Given the description of an element on the screen output the (x, y) to click on. 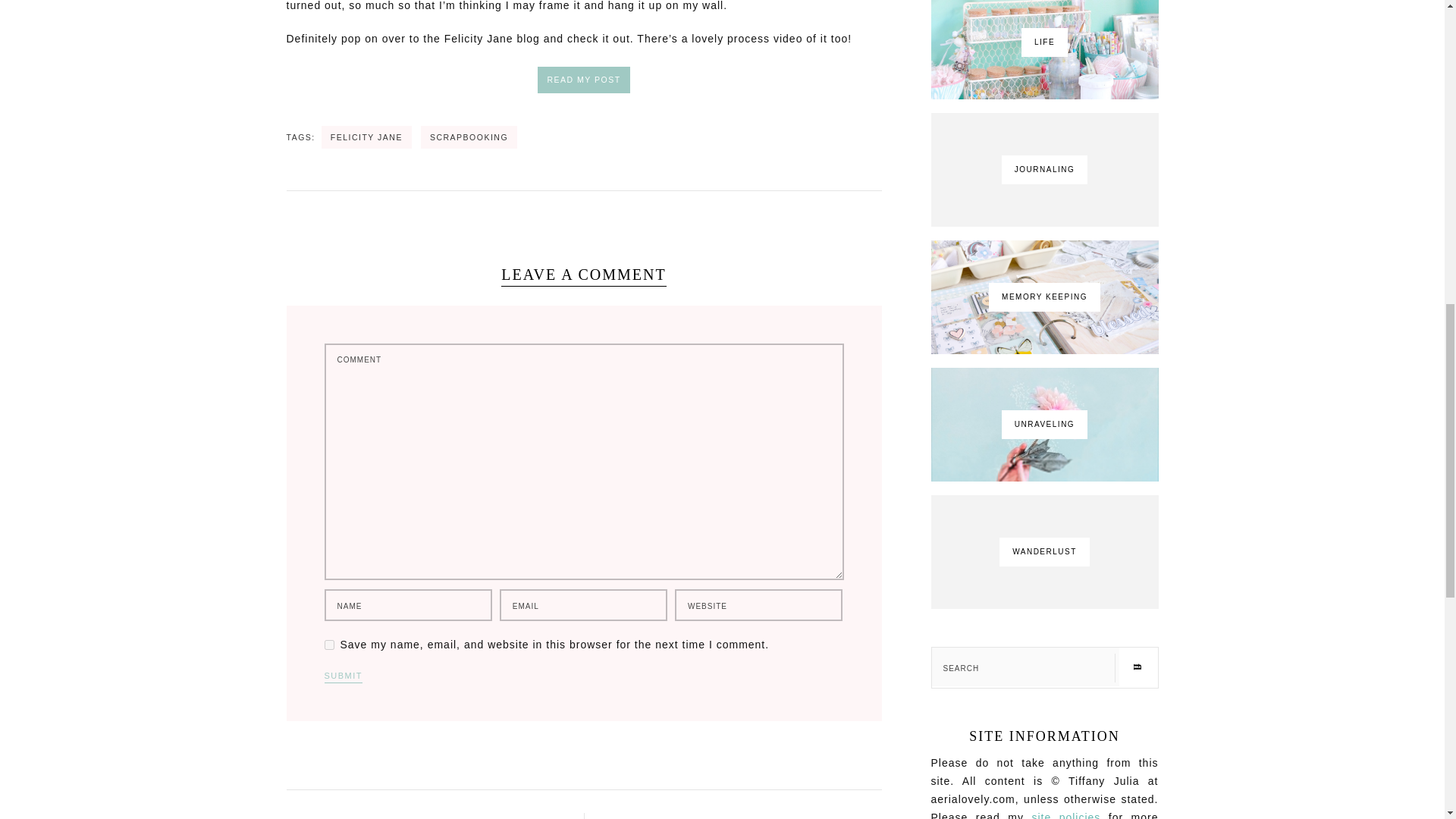
FELICITY JANE (366, 137)
LIFE (1044, 49)
Submit (343, 677)
Submit (343, 677)
terms of use (1065, 815)
yes (329, 644)
SCRAPBOOKING (468, 137)
READ MY POST (582, 79)
